Given the description of an element on the screen output the (x, y) to click on. 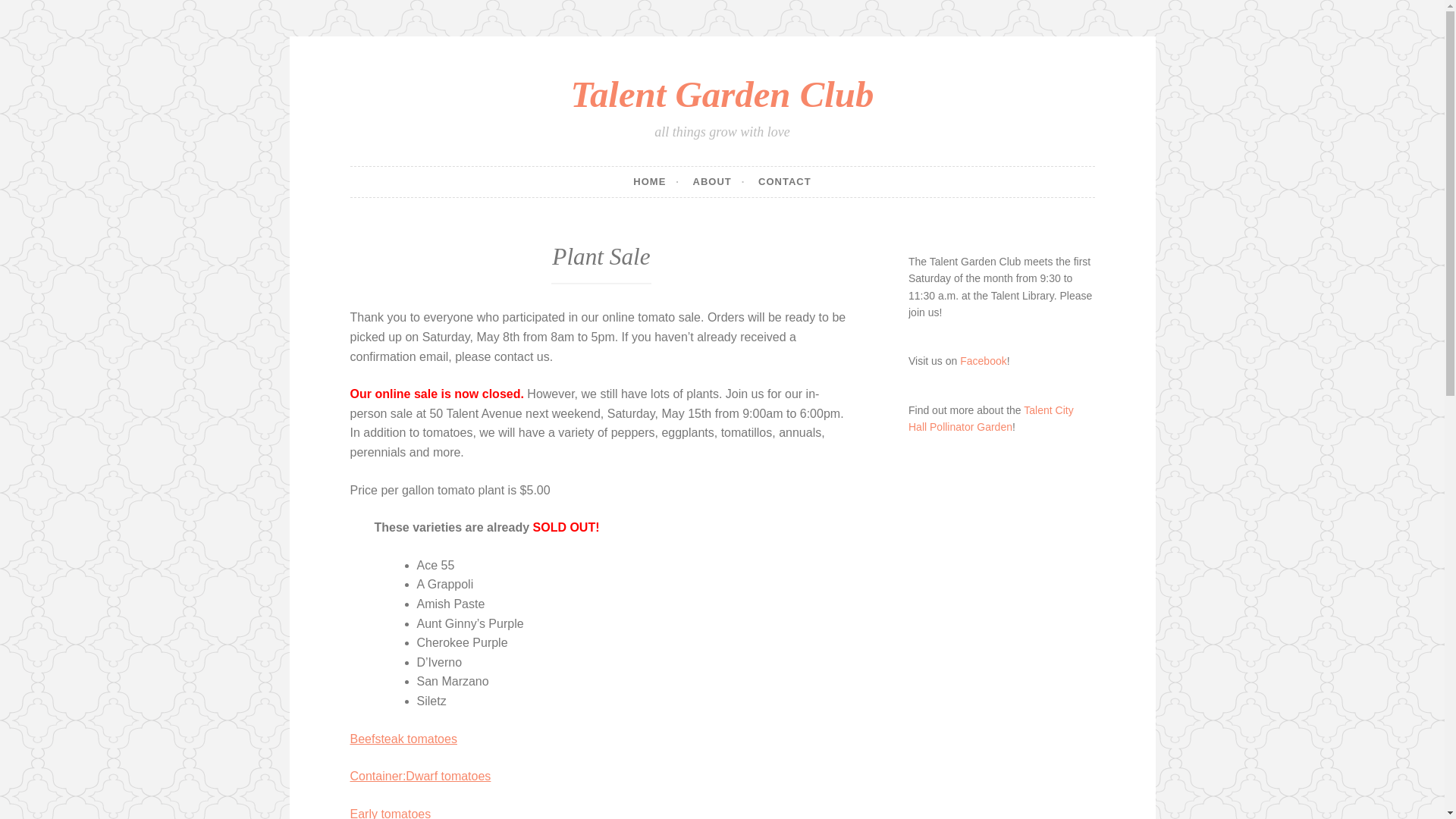
Early tomatoes (390, 813)
Beefsteak tomatoes (403, 738)
CONTACT (784, 182)
HOME (656, 182)
ABOUT (719, 182)
Talent City Hall Pollinator Garden (991, 418)
Talent Garden Club (722, 94)
Container:Dwarf tomatoes (421, 775)
Facebook (982, 360)
